Given the description of an element on the screen output the (x, y) to click on. 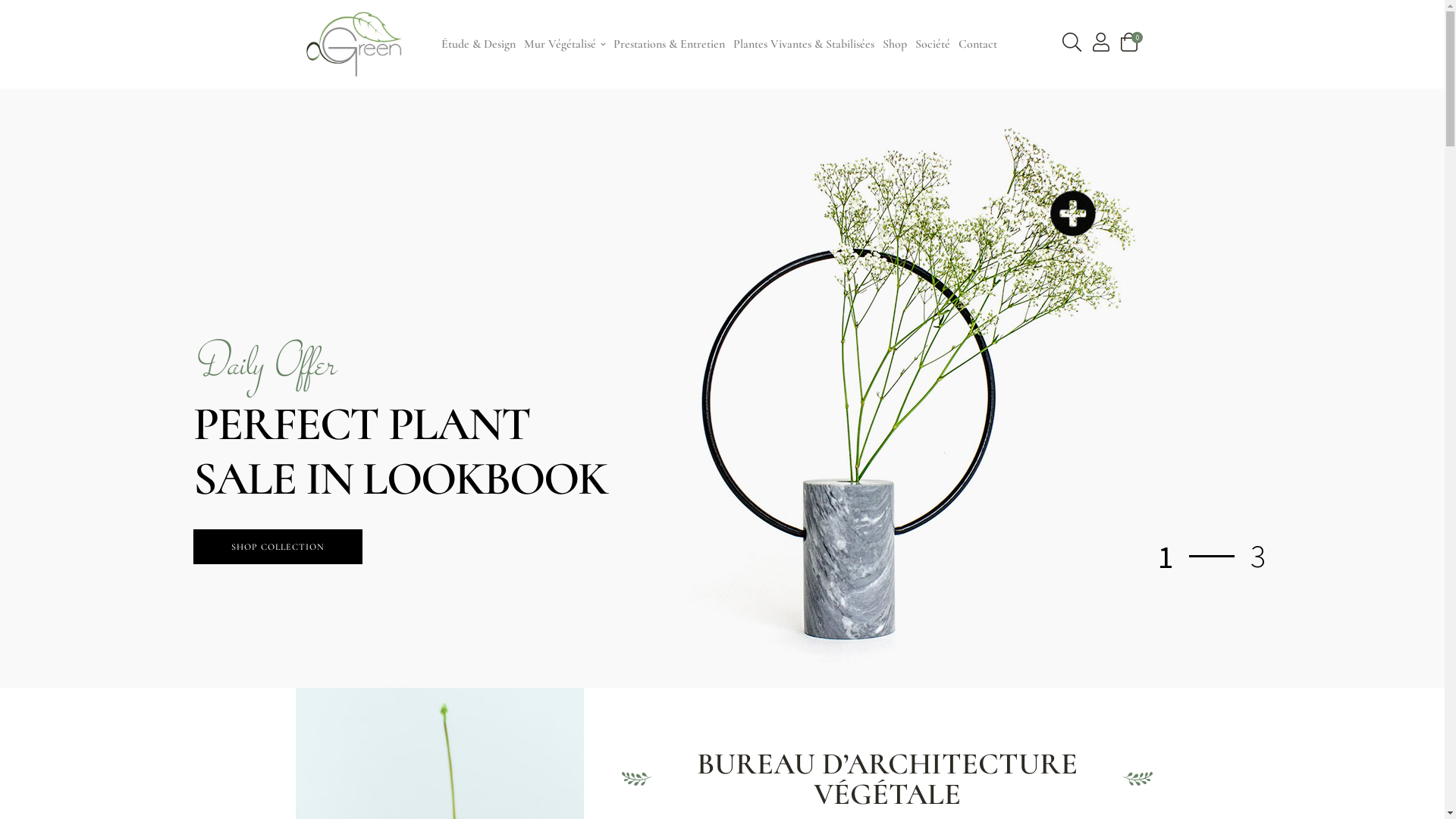
Prestations & Entretien Element type: text (668, 43)
logo-cropped Element type: hover (355, 44)
Shop Element type: text (894, 43)
Contact Element type: text (977, 43)
0 Element type: text (1133, 43)
